Given the description of an element on the screen output the (x, y) to click on. 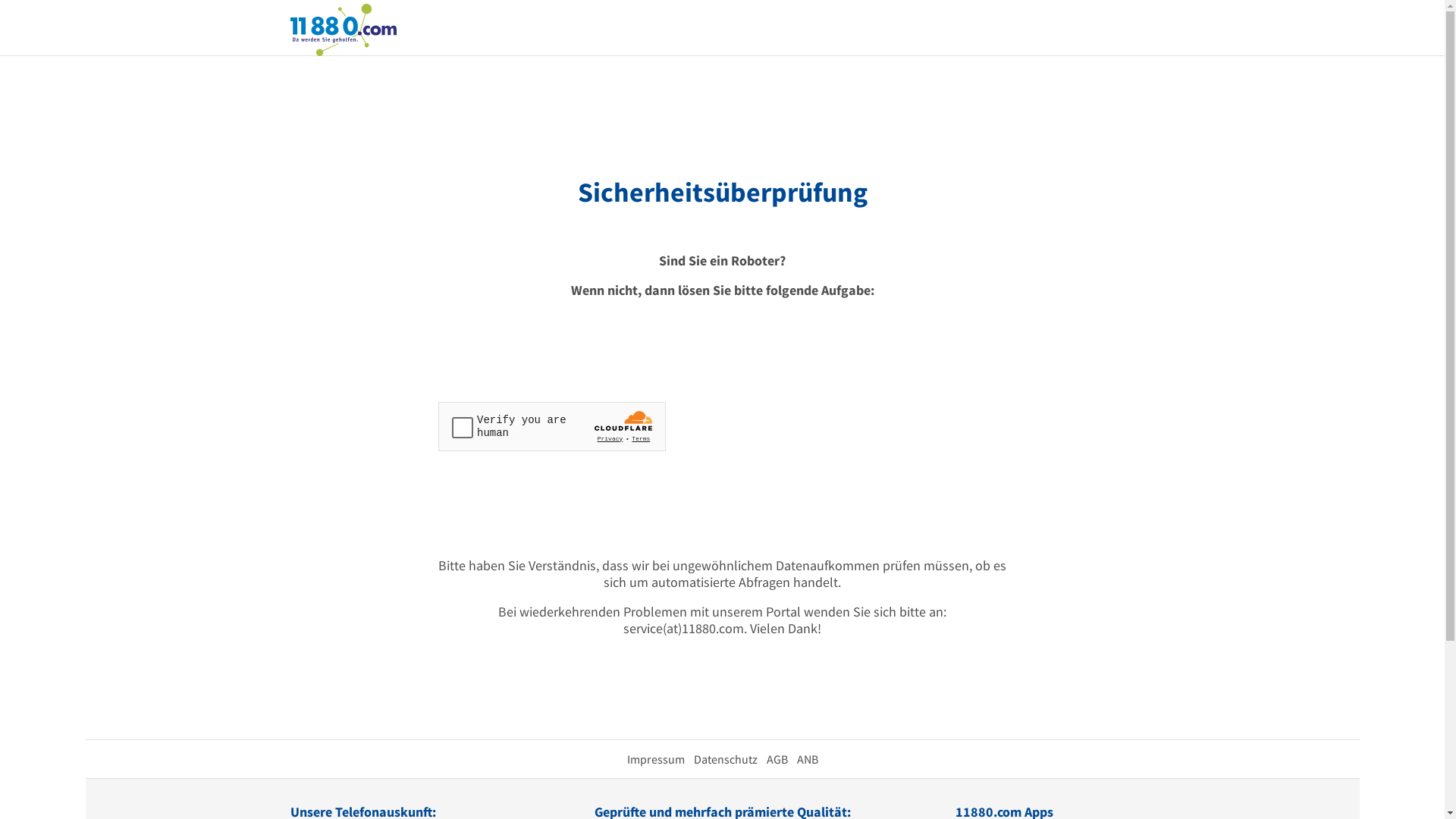
Widget containing a Cloudflare security challenge Element type: hover (551, 426)
Impressum Element type: text (655, 758)
Datenschutz Element type: text (724, 758)
AGB Element type: text (776, 758)
11880.com Element type: hover (342, 28)
ANB Element type: text (806, 758)
